Given the description of an element on the screen output the (x, y) to click on. 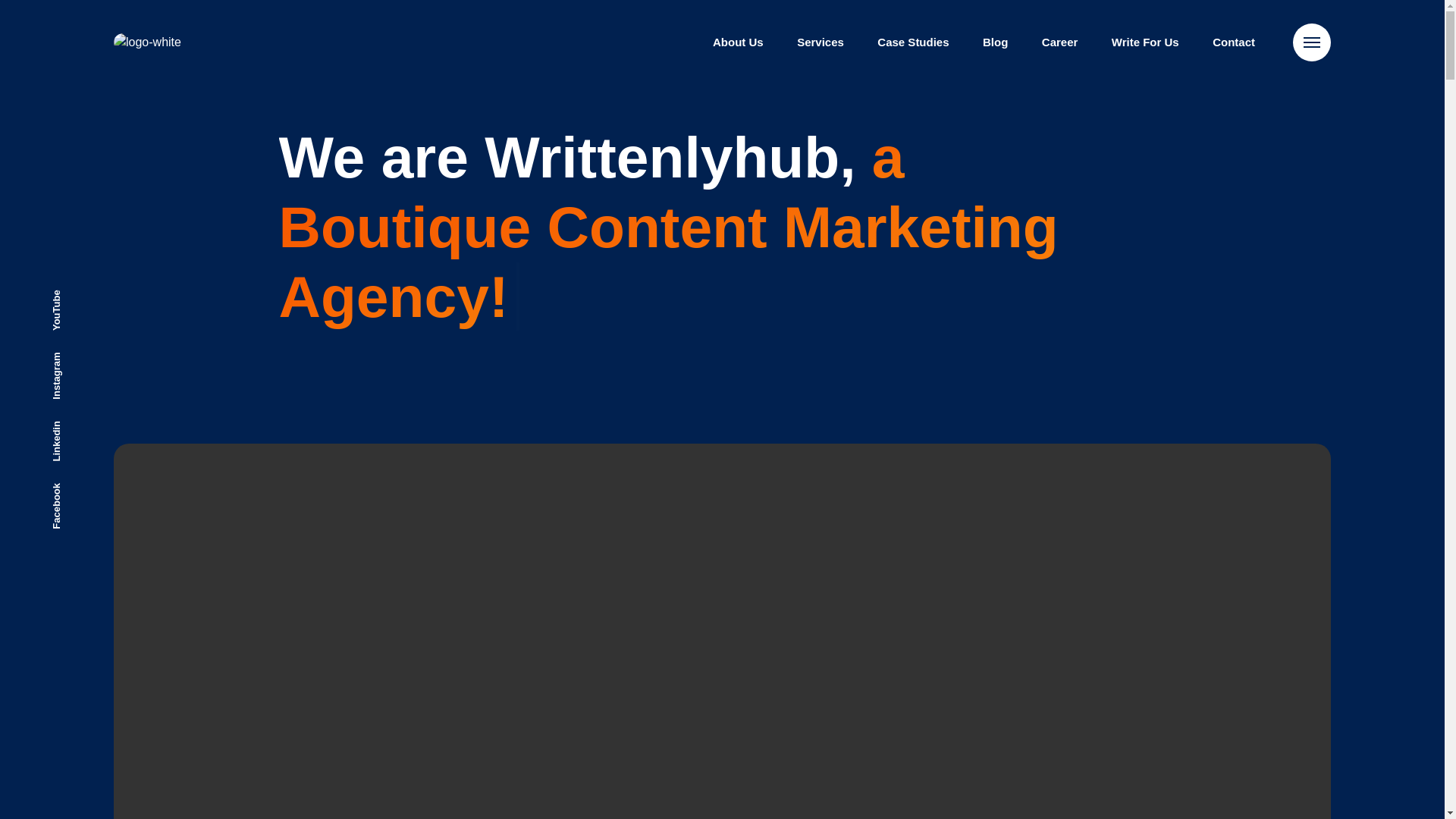
Linkedin (72, 424)
Career (1060, 41)
Instagram (75, 355)
Blog (995, 41)
Contact (1233, 41)
YouTube (73, 293)
Case Studies (913, 41)
Services (819, 41)
Facebook (75, 486)
Write For Us (1144, 41)
